Given the description of an element on the screen output the (x, y) to click on. 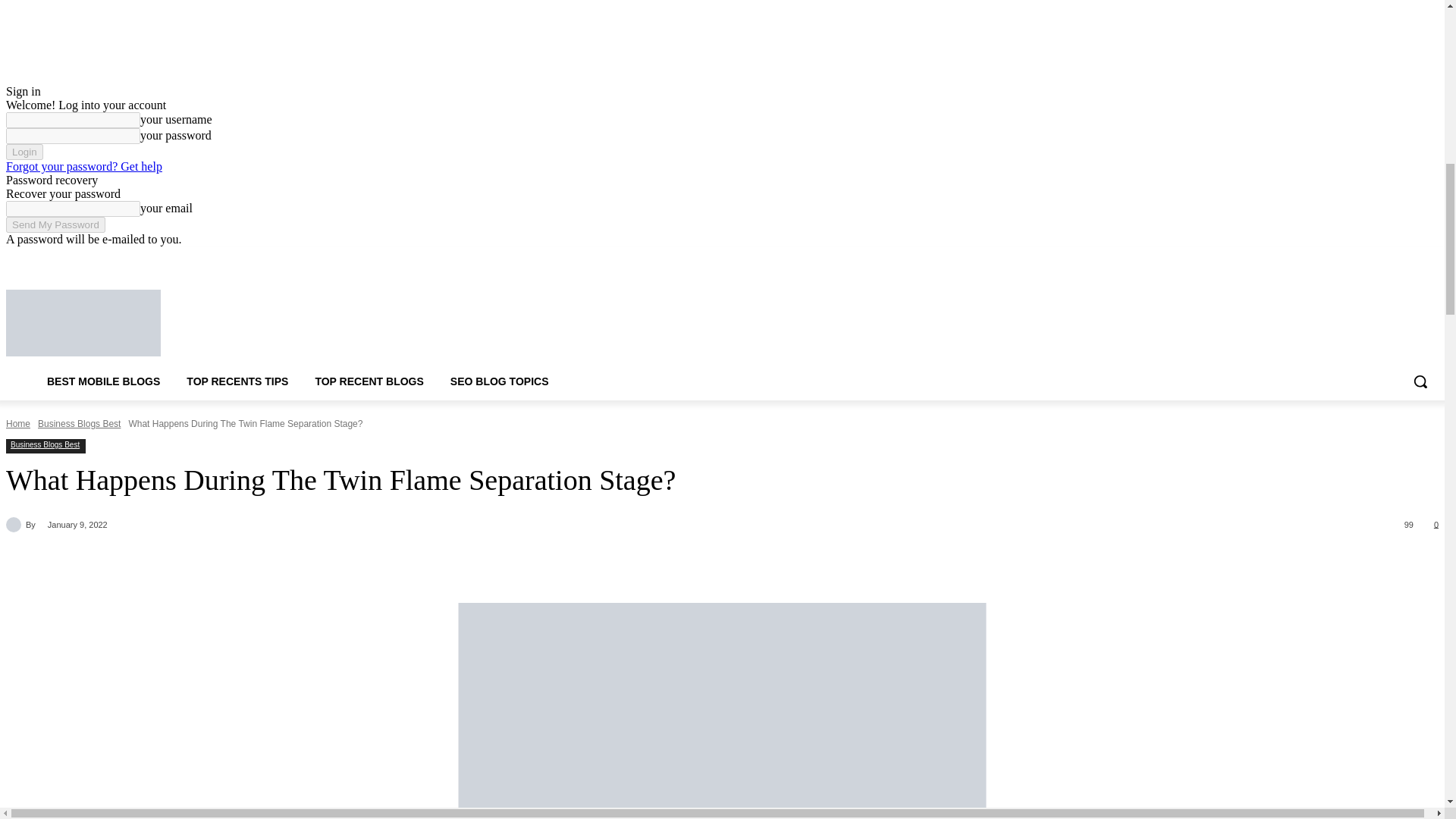
Instagram (1366, 257)
Facebook (1345, 257)
Twitter (1387, 257)
Login (24, 151)
Top Recents  (82, 322)
Youtube (1429, 257)
Top Recents  (220, 322)
Vimeo (1407, 257)
View all posts in Business Blogs Best (78, 423)
Send My Password (54, 224)
